Given the description of an element on the screen output the (x, y) to click on. 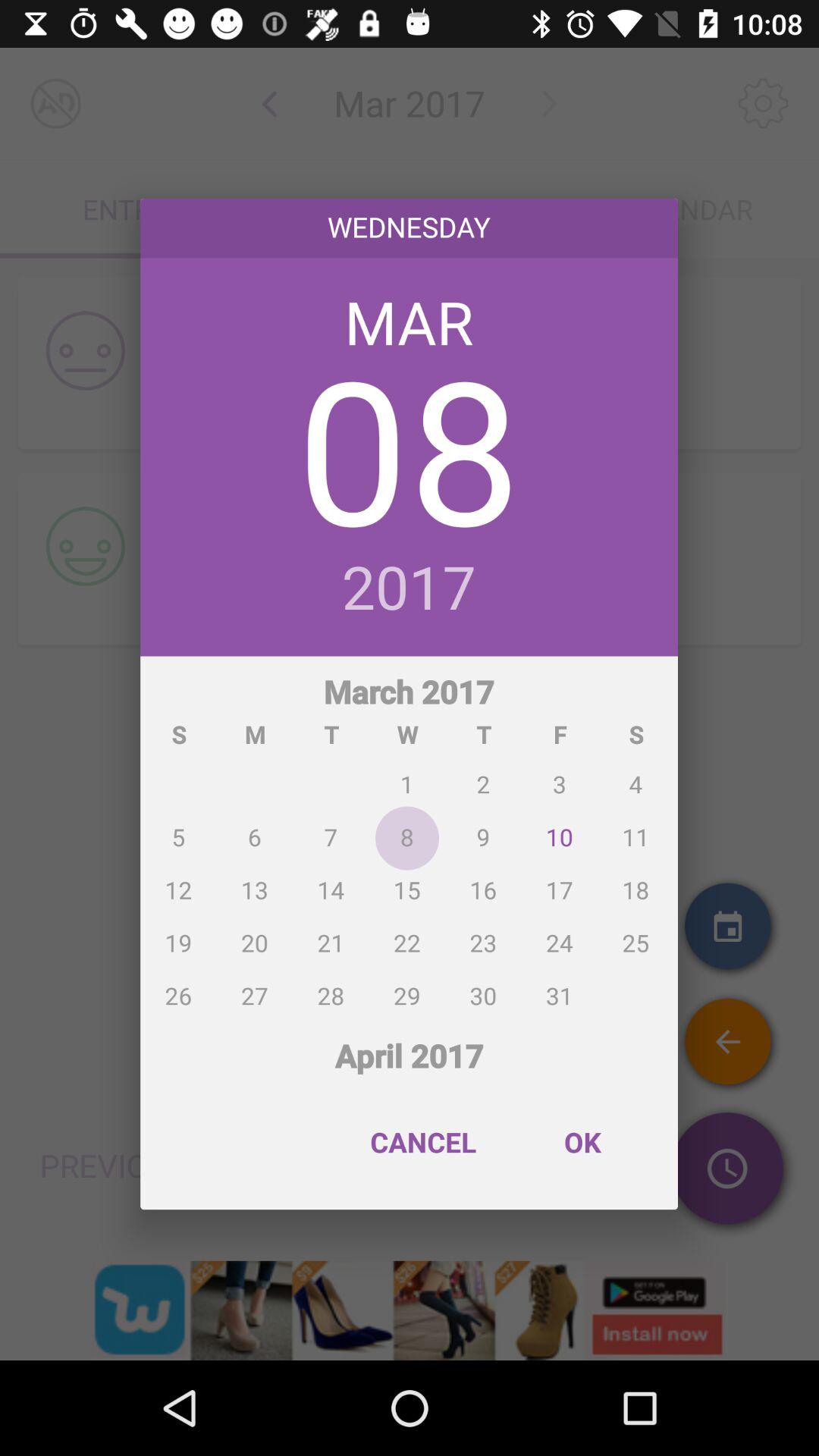
scroll to the 2017 item (408, 589)
